Given the description of an element on the screen output the (x, y) to click on. 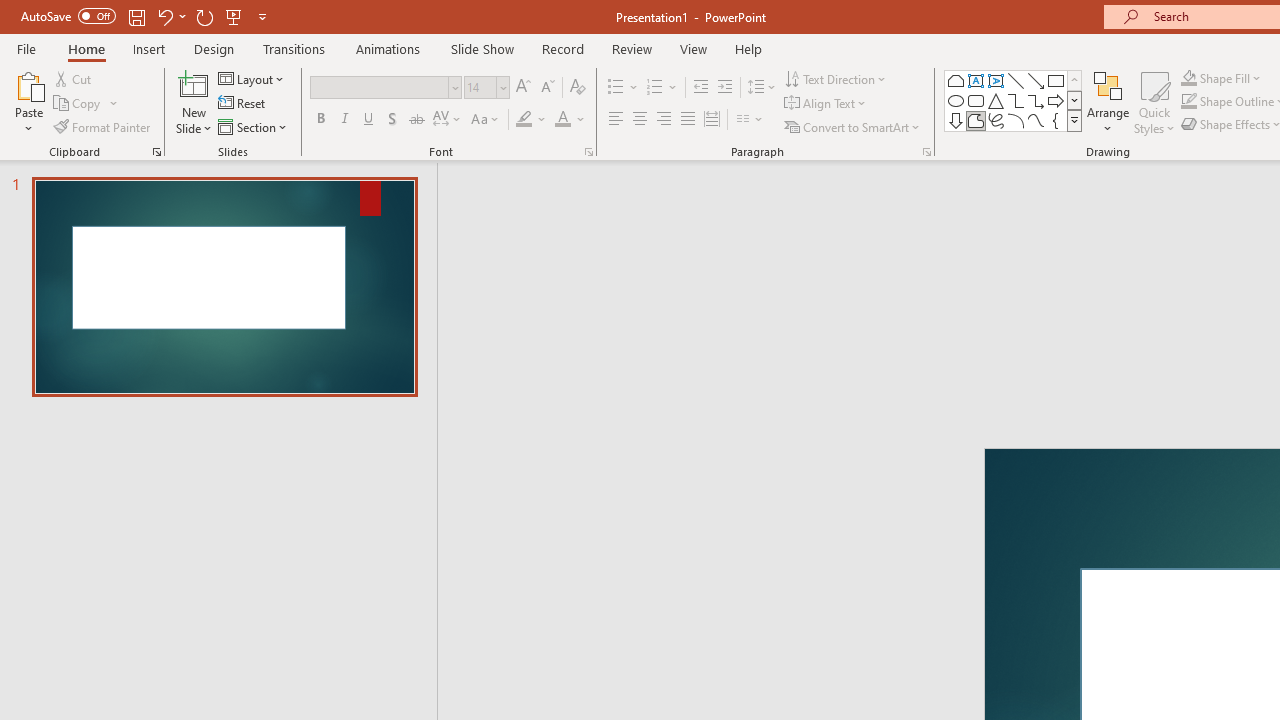
Shape Fill Orange, Accent 2 (1188, 78)
Shape Outline Blue, Accent 1 (1188, 101)
